Given the description of an element on the screen output the (x, y) to click on. 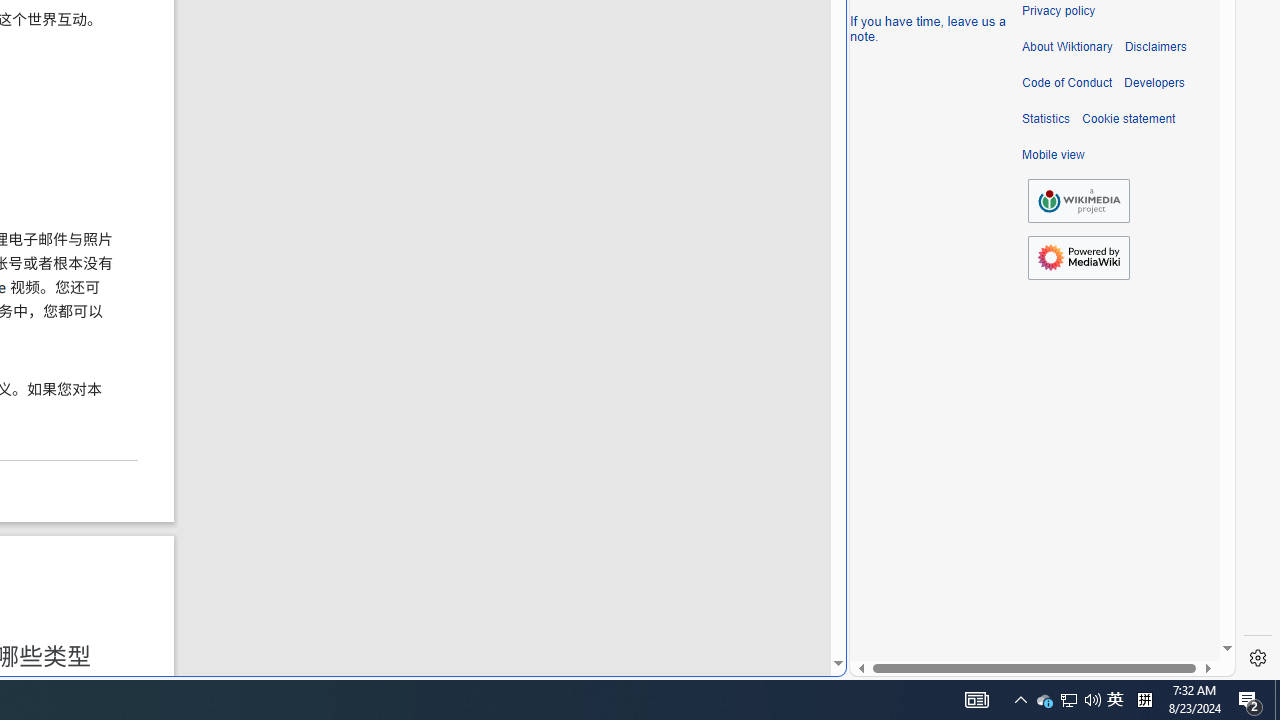
Privacy policy (1058, 11)
AutomationID: footer-poweredbyico (1078, 257)
Developers (1154, 83)
Mobile view (1053, 155)
Developers (1154, 83)
Code of Conduct (1067, 83)
Mobile view (1053, 155)
Cookie statement (1128, 119)
google_privacy_policy_zh-CN.pdf (687, 482)
Wikimedia Foundation (1078, 201)
MSN (687, 223)
